Given the description of an element on the screen output the (x, y) to click on. 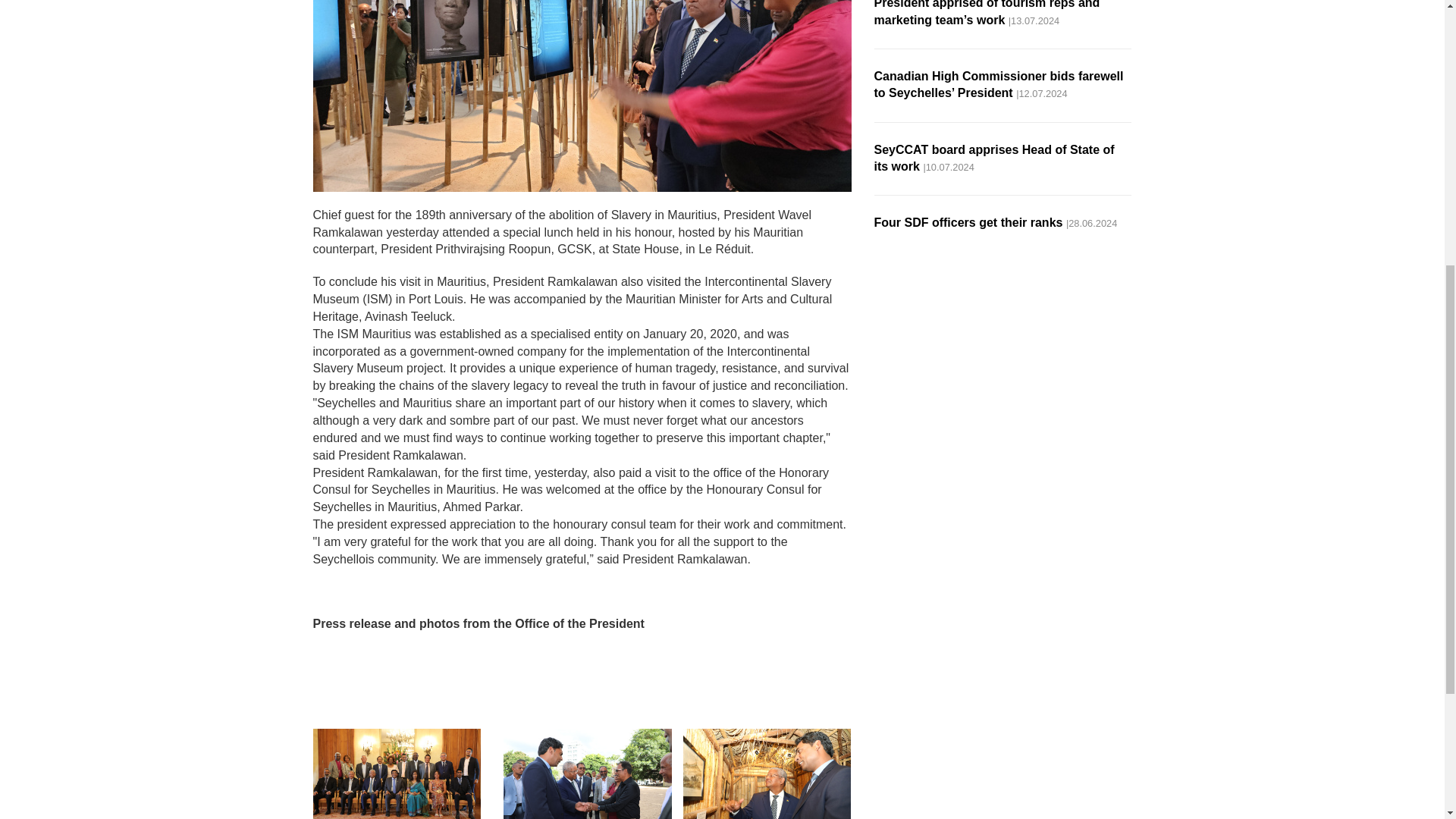
SeyCCAT board apprises Head of State of its work (993, 157)
Four SDF officers get their ranks (967, 222)
